Given the description of an element on the screen output the (x, y) to click on. 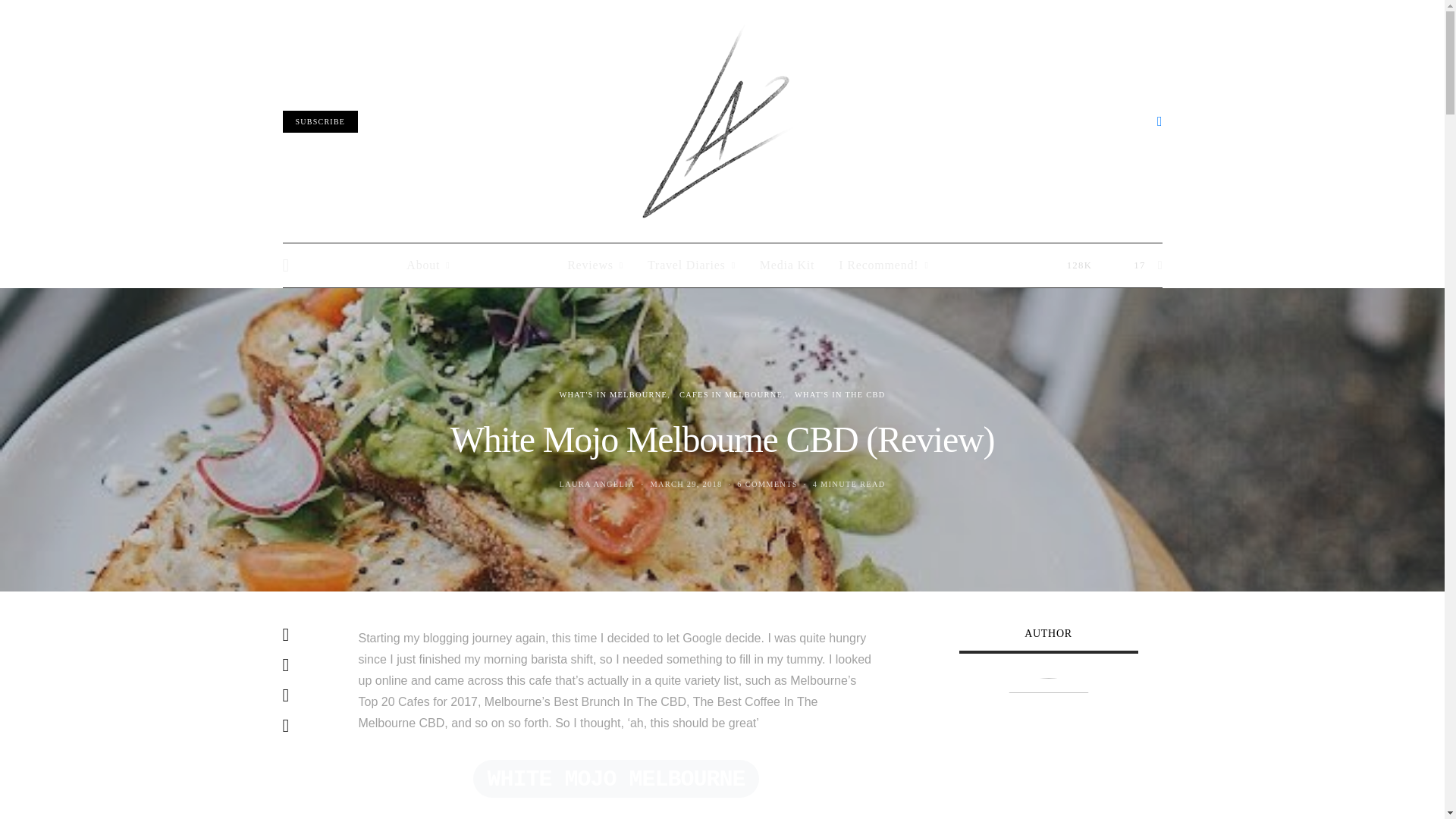
SUBSCRIBE (320, 121)
View all posts by Laura Angelia (596, 483)
Melbourne (508, 265)
About (427, 265)
